Given the description of an element on the screen output the (x, y) to click on. 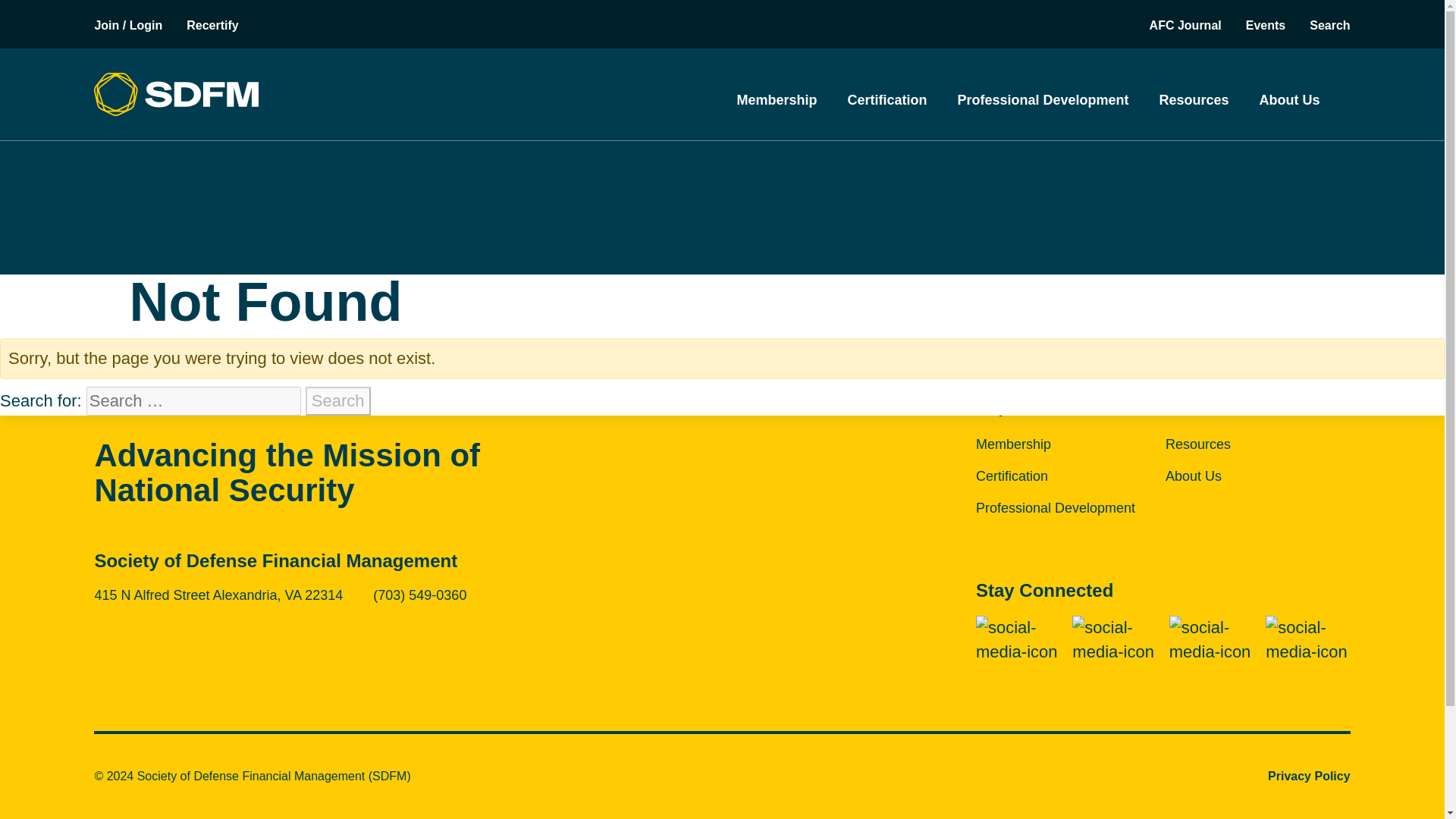
Events (1265, 24)
AFC Journal (1185, 24)
Membership (776, 99)
Recertify (212, 24)
